Given the description of an element on the screen output the (x, y) to click on. 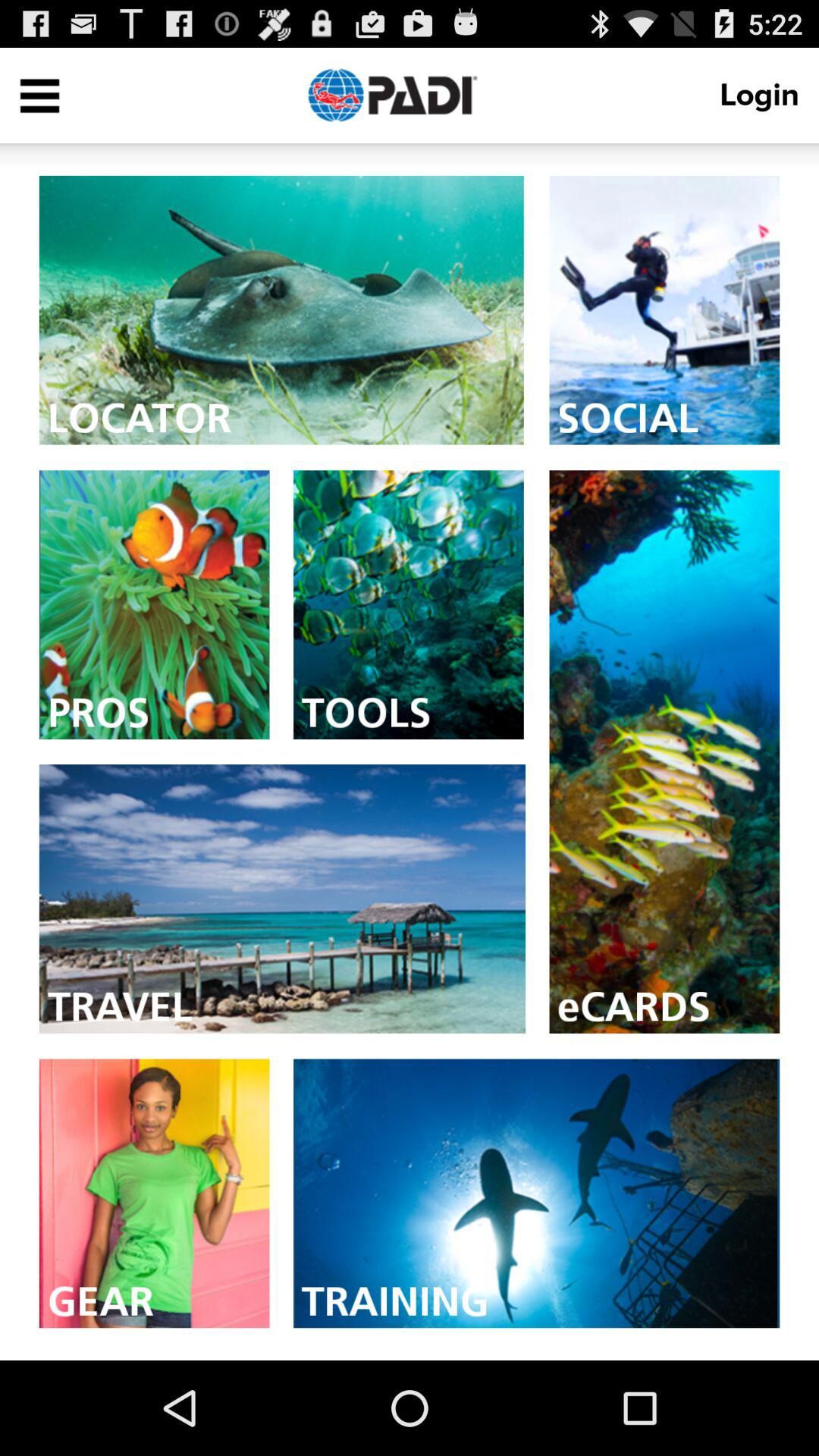
view more information (536, 1193)
